Given the description of an element on the screen output the (x, y) to click on. 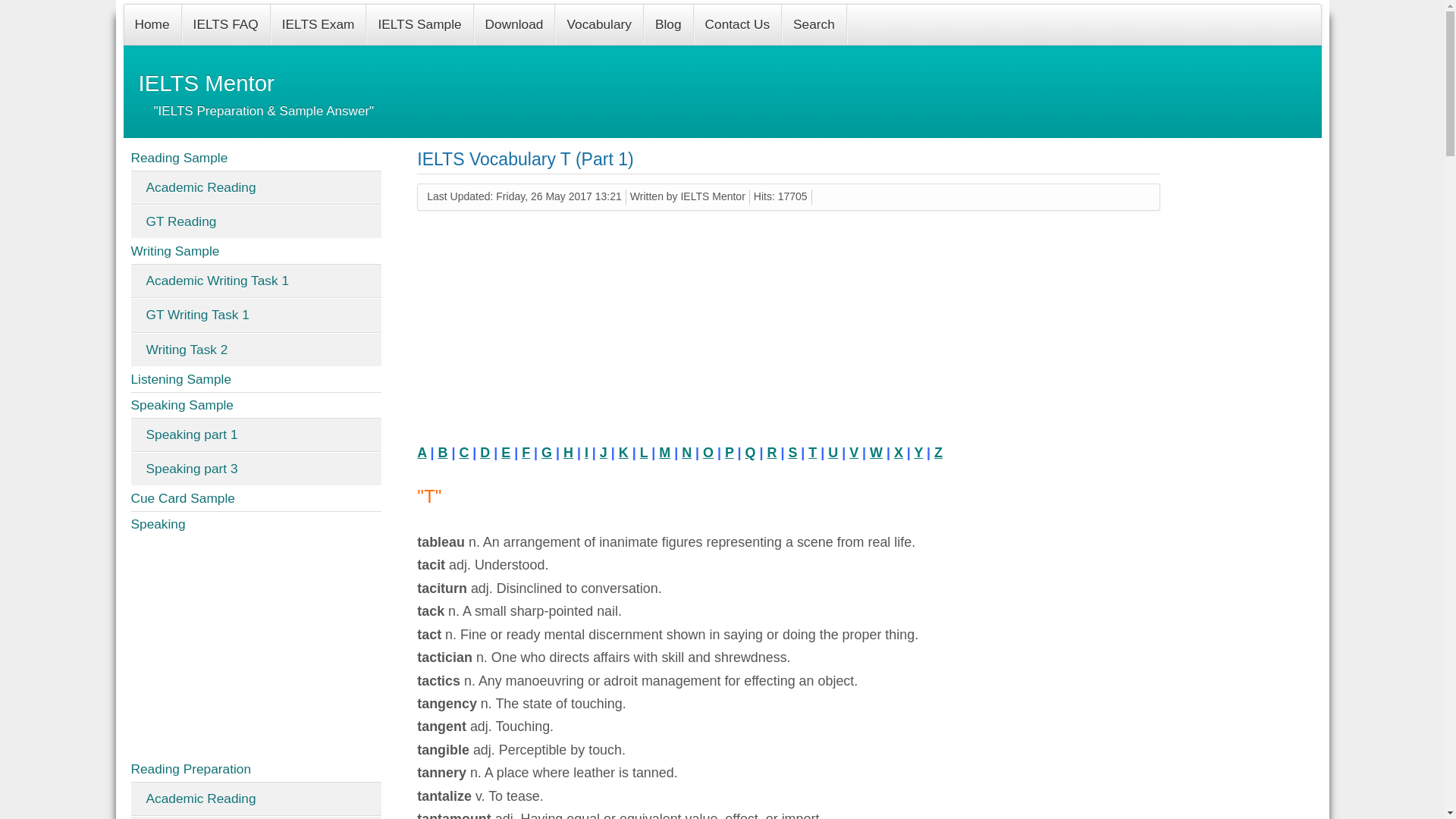
Speaking Sample (256, 405)
Reading Preparation (256, 769)
Vocabulary (598, 24)
Search (814, 24)
GT Writing Task 1 (256, 315)
Cue Card Sample (256, 498)
Reading Sample (256, 158)
Home (151, 24)
Writing Task 2 (256, 349)
Speaking part 1 (256, 435)
Academic Reading (256, 798)
Academic Reading (256, 187)
Speaking part 3 (256, 468)
Download (515, 24)
Blog (668, 24)
